Given the description of an element on the screen output the (x, y) to click on. 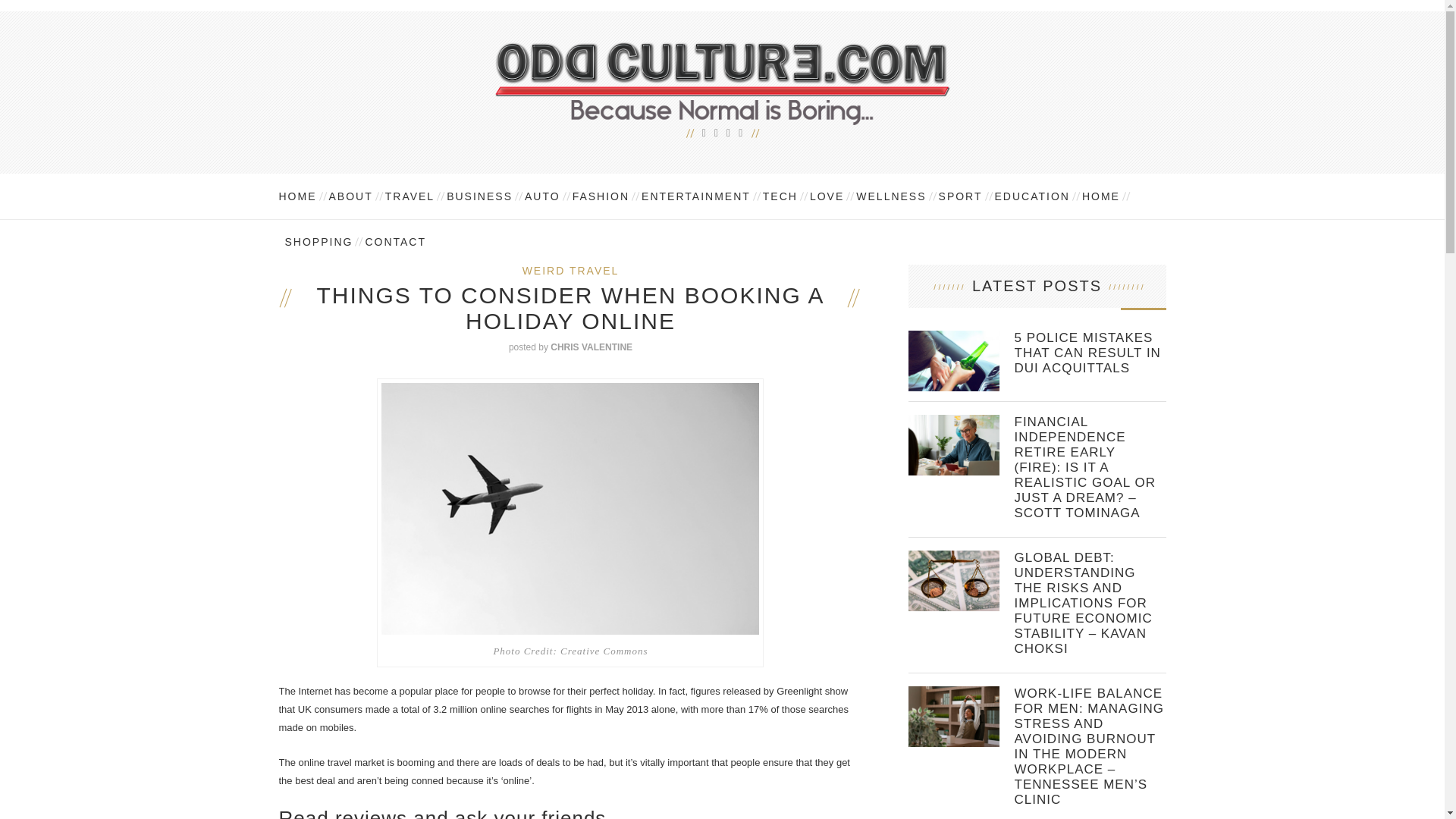
TECH (780, 196)
SHOPPING (319, 241)
HOME (1100, 196)
WELLNESS (890, 196)
TRAVEL (409, 196)
ENTERTAINMENT (695, 196)
BUSINESS (479, 196)
ABOUT (350, 196)
EDUCATION (1031, 196)
5 Police Mistakes That Can Result in DUI Acquittals (1090, 352)
